Given the description of an element on the screen output the (x, y) to click on. 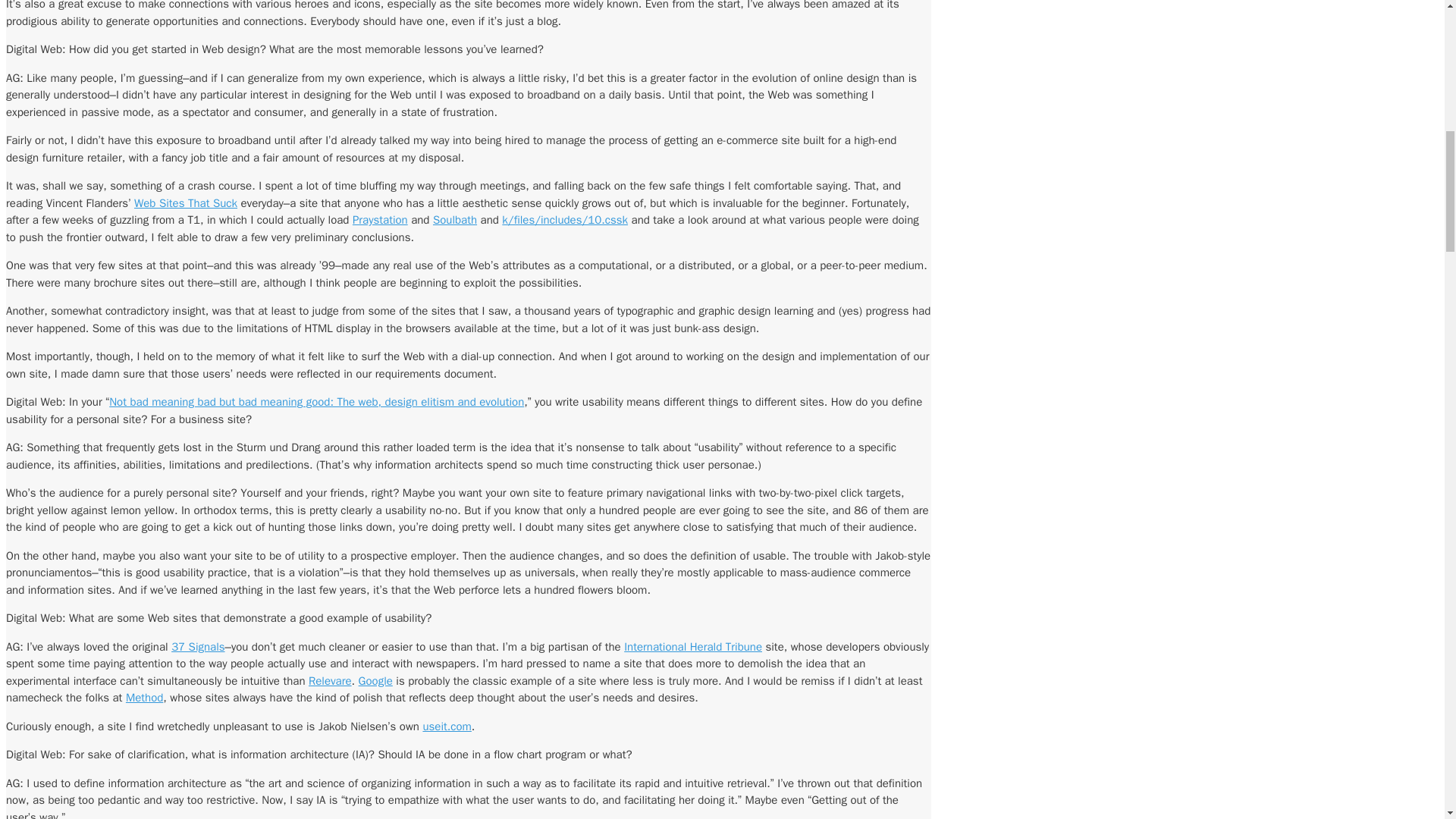
useit.com (446, 726)
International Herald Tribune (692, 646)
Praystation (379, 219)
Method (144, 697)
Web Sites That Suck (185, 202)
Google (375, 680)
37 Signals (197, 646)
Relevare (330, 680)
Soulbath (454, 219)
